Given the description of an element on the screen output the (x, y) to click on. 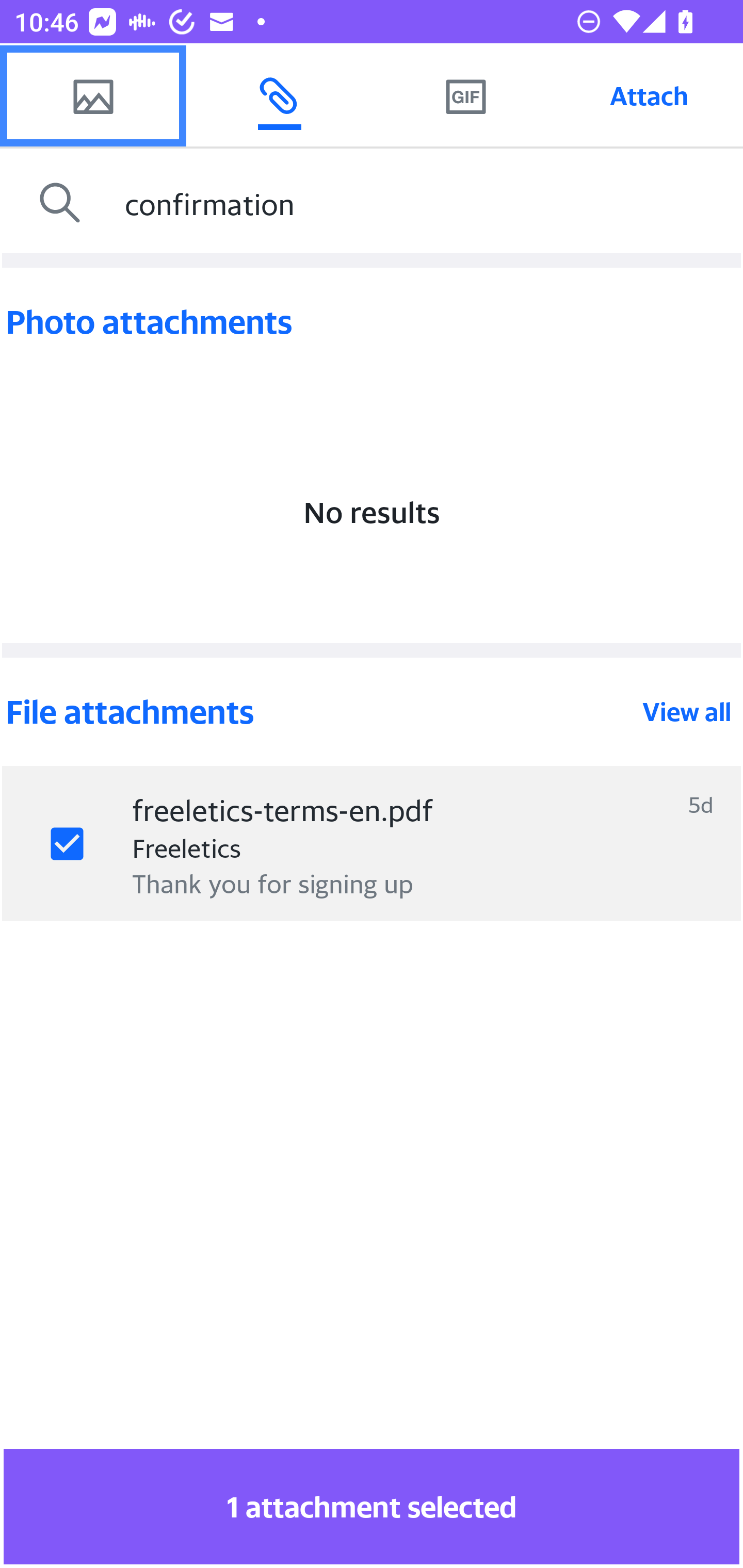
Camera photos (93, 95)
Recent attachments from mail (279, 95)
GIFs (465, 95)
Attach (649, 95)
confirmation (428, 203)
Photo attachments (371, 322)
File attachments (321, 711)
View all (686, 711)
1 attachment selected (371, 1506)
